Given the description of an element on the screen output the (x, y) to click on. 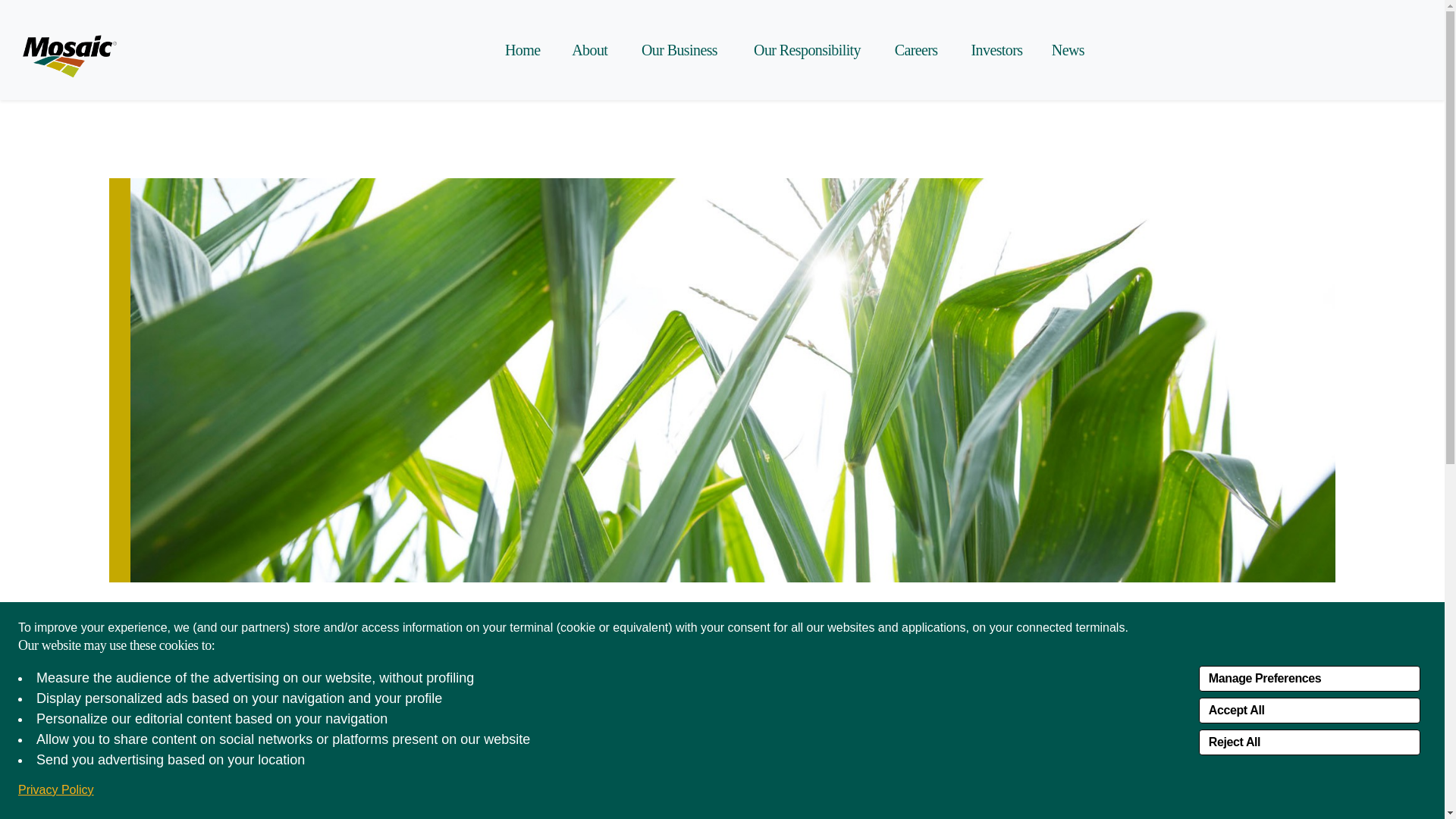
Our Responsibility (802, 49)
Accept All (1309, 710)
Privacy Policy (55, 789)
Our Business (677, 49)
Our Responsibility (802, 49)
Reject All (1309, 742)
Manage Preferences (1309, 678)
Our Business (677, 49)
